Given the description of an element on the screen output the (x, y) to click on. 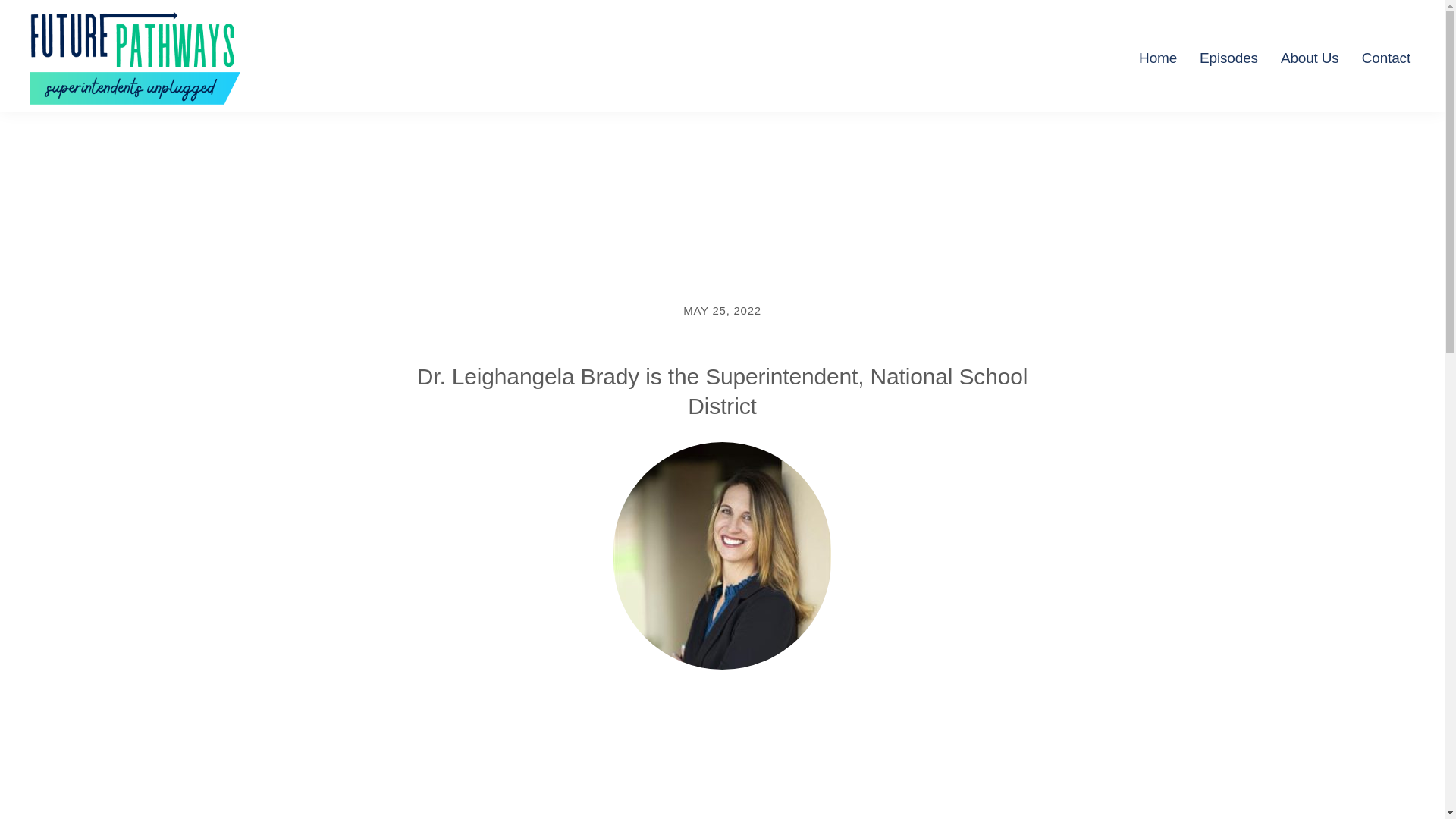
Episodes (1228, 57)
Contact (1386, 57)
About Us (1310, 57)
Home (1157, 57)
